Given the description of an element on the screen output the (x, y) to click on. 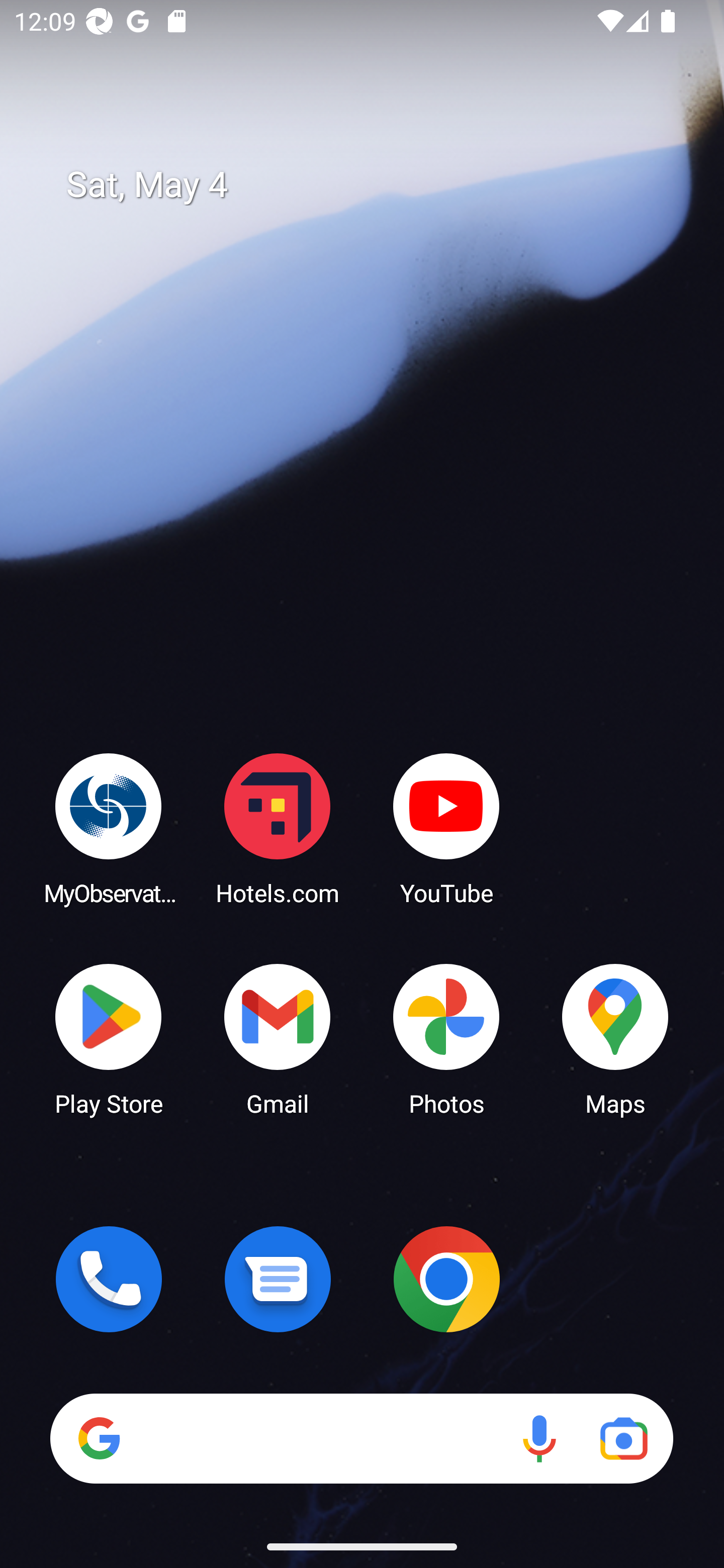
Sat, May 4 (375, 184)
MyObservatory (108, 828)
Hotels.com (277, 828)
YouTube (445, 828)
Play Store (108, 1038)
Gmail (277, 1038)
Photos (445, 1038)
Maps (615, 1038)
Phone (108, 1279)
Messages (277, 1279)
Chrome (446, 1279)
Search Voice search Google Lens (361, 1438)
Voice search (539, 1438)
Google Lens (623, 1438)
